Given the description of an element on the screen output the (x, y) to click on. 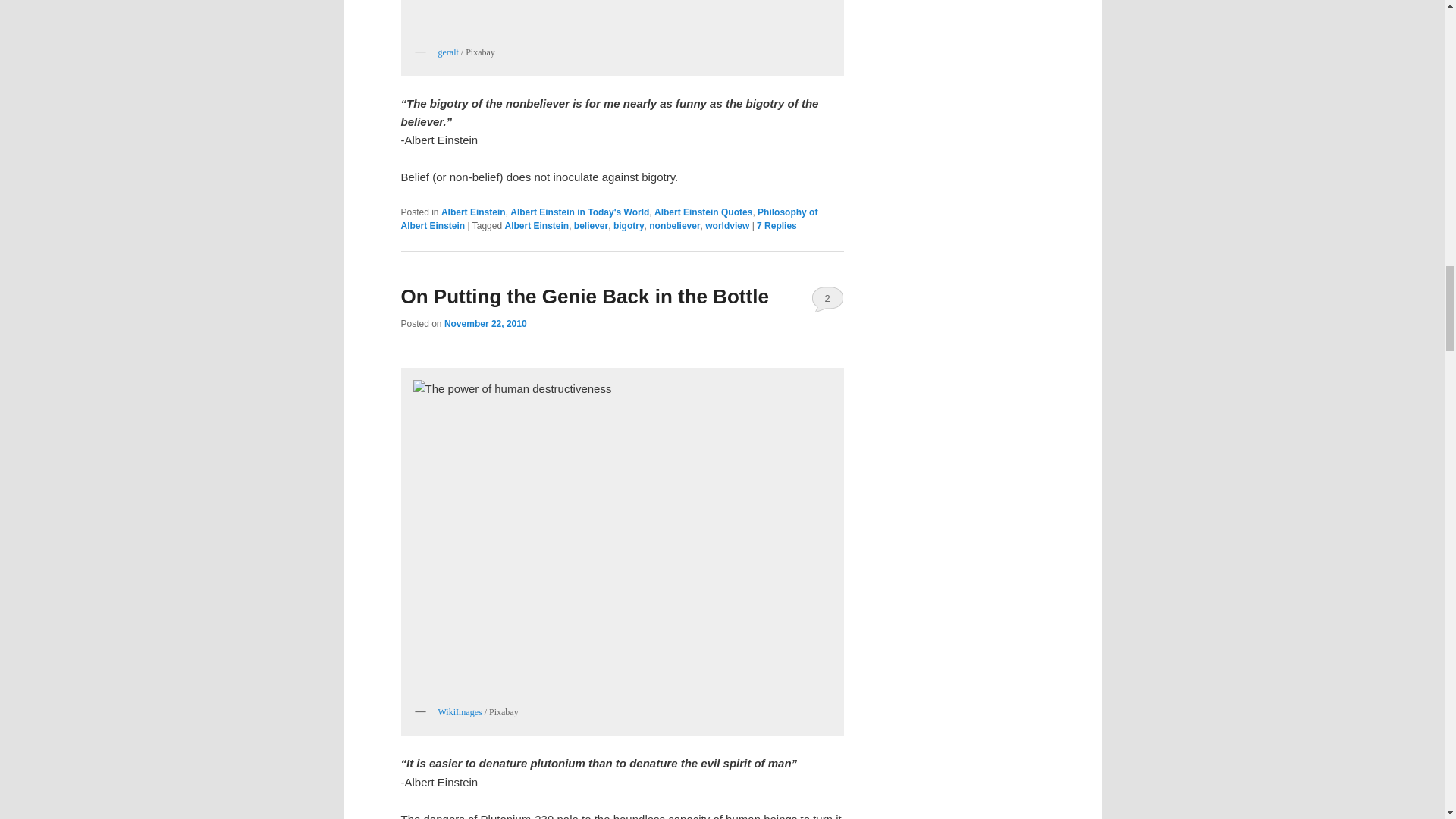
Philosophy of Albert Einstein (608, 218)
Albert Einstein Quotes (702, 212)
geralt (448, 51)
Albert Einstein (473, 212)
Albert Einstein in Today's World (580, 212)
7:40 pm (485, 323)
